Given the description of an element on the screen output the (x, y) to click on. 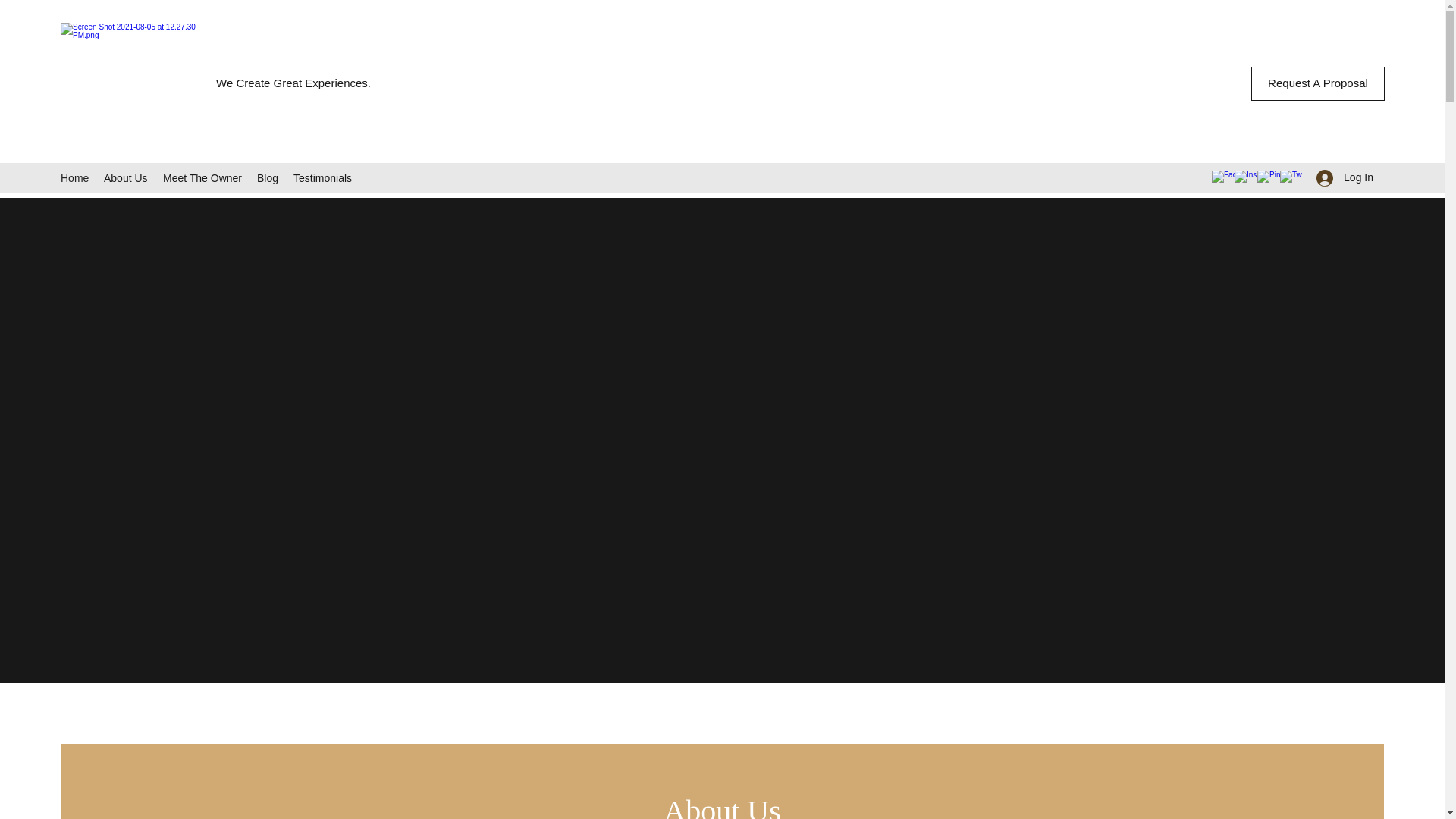
Testimonials (322, 178)
Meet The Owner (201, 178)
Request A Proposal (1317, 83)
Home (74, 178)
Blog (266, 178)
About Us (125, 178)
Log In (1345, 177)
